Given the description of an element on the screen output the (x, y) to click on. 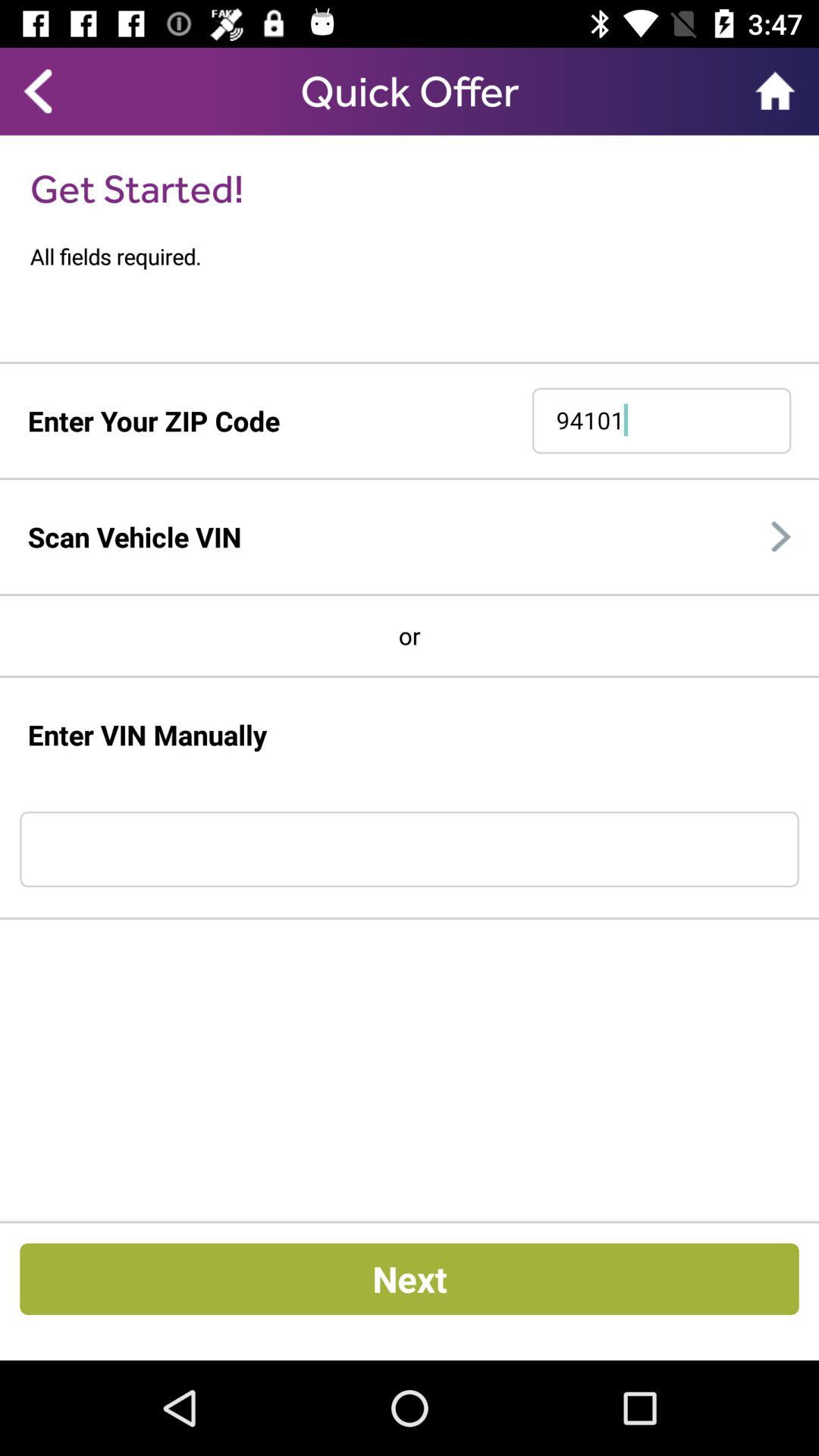
open the item below enter vin manually item (409, 849)
